Given the description of an element on the screen output the (x, y) to click on. 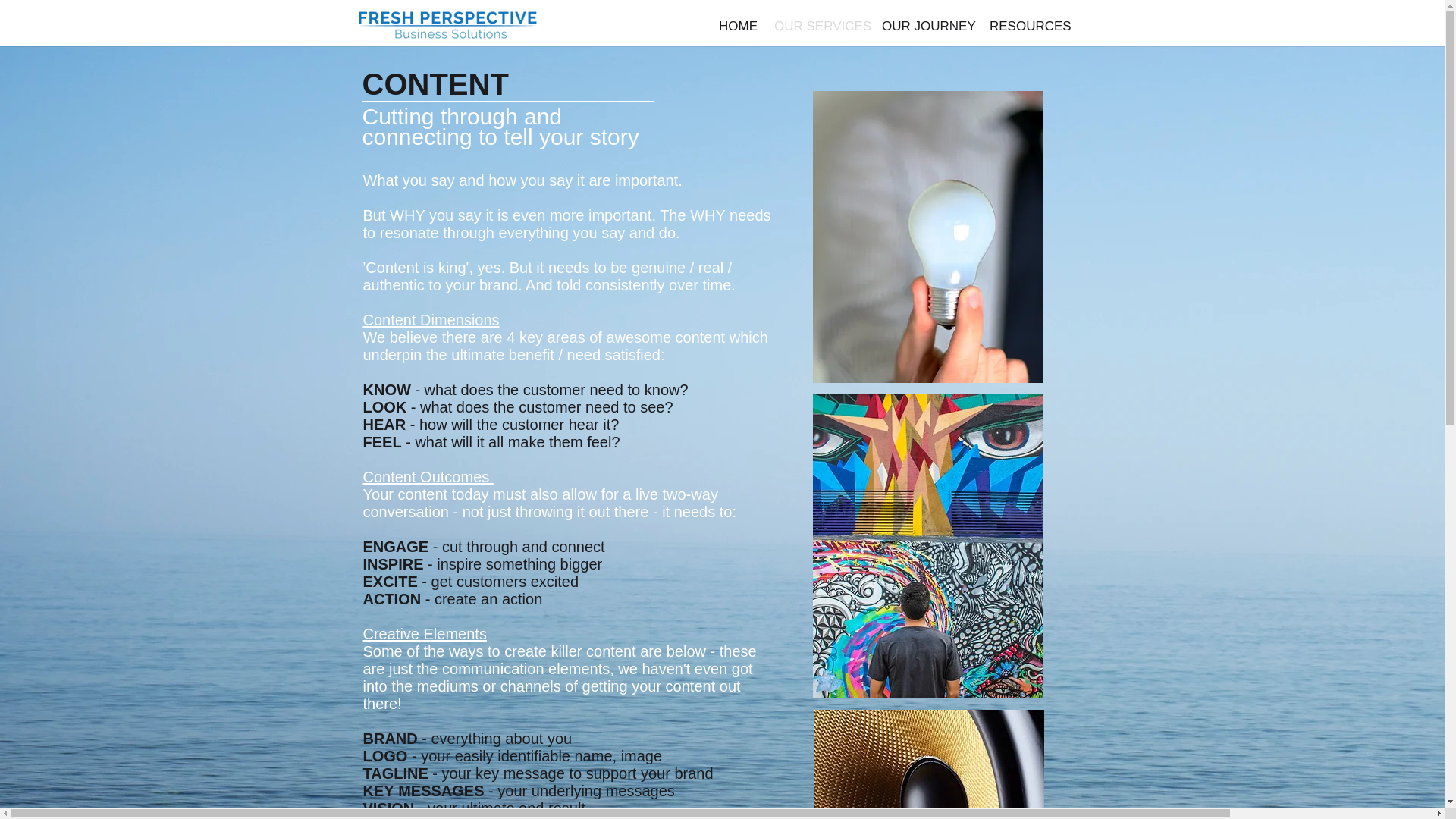
OUR SERVICES (819, 23)
OUR JOURNEY (927, 23)
HOME (737, 23)
